Given the description of an element on the screen output the (x, y) to click on. 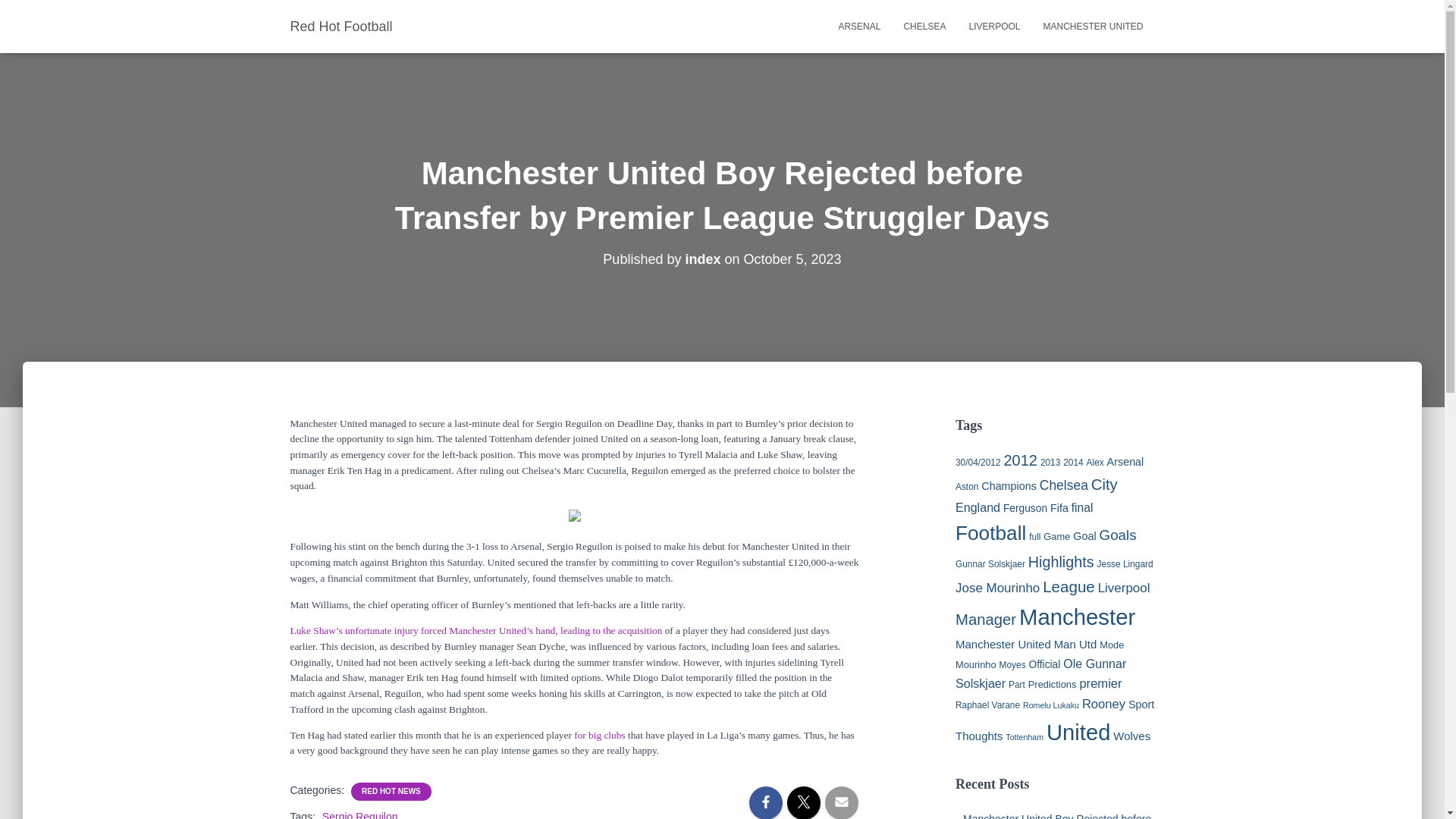
Ferguson (1024, 508)
Fifa (1058, 508)
Chelsea (1063, 485)
Manchester United (1092, 26)
Goal (1084, 535)
Sergio Reguilon (359, 814)
ARSENAL (859, 26)
Champions (1008, 485)
Red Hot Football (341, 26)
Highlights (1060, 561)
Jose Mourinho (997, 587)
index (702, 258)
Liverpool (993, 26)
for big clubs (598, 735)
Jesse Lingard (1125, 563)
